Given the description of an element on the screen output the (x, y) to click on. 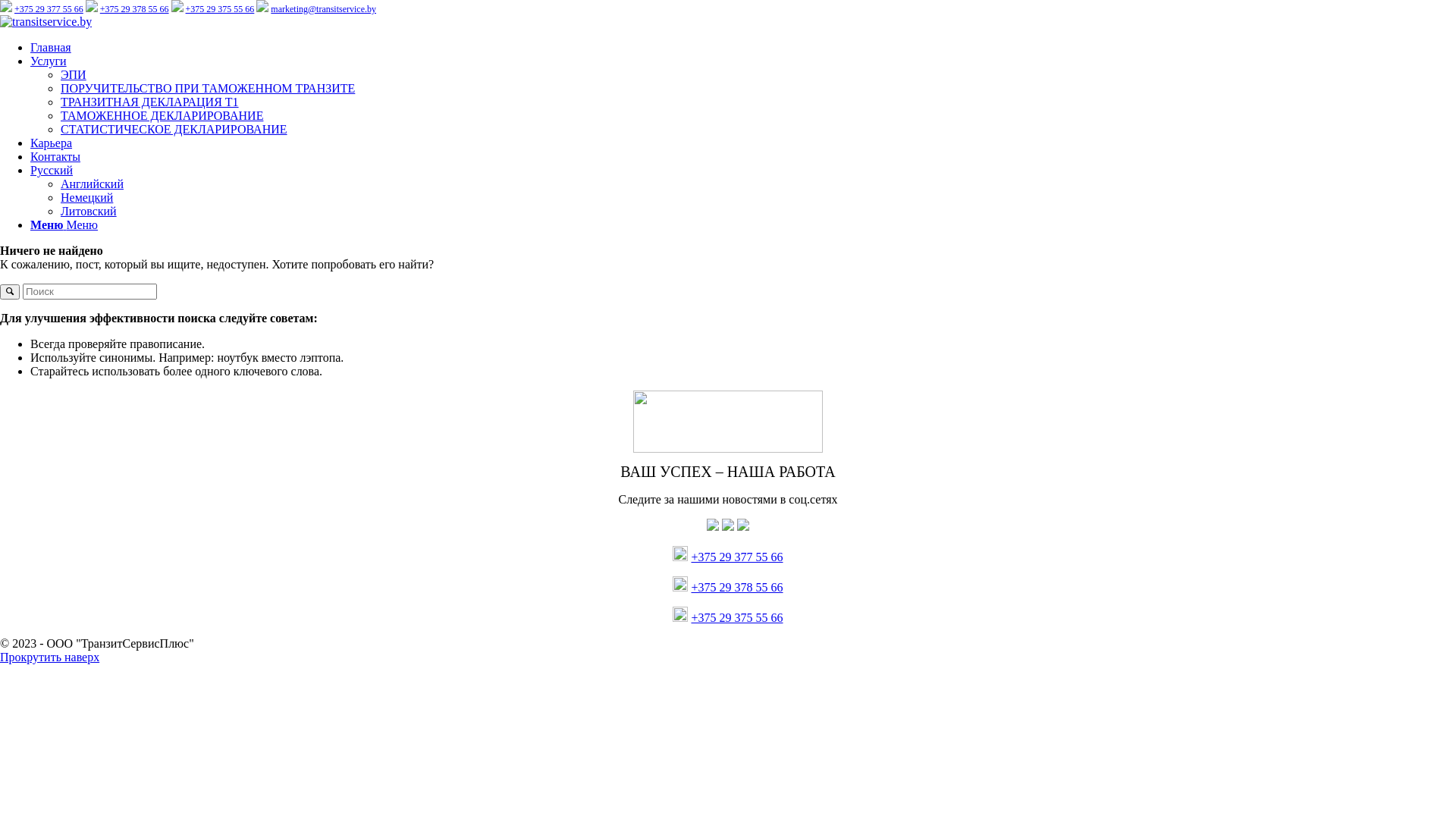
Facebook Element type: hover (712, 526)
+375 29 377 55 66 Element type: text (736, 556)
marketing@transitservice.by Element type: text (323, 8)
Instagram Element type: hover (743, 526)
+375 29 375 55 66 Element type: text (219, 8)
+375 29 377 55 66 Element type: text (48, 8)
+375 29 375 55 66 Element type: text (736, 617)
+375 29 378 55 66 Element type: text (736, 586)
transit_logo Element type: hover (45, 21)
+375 29 378 55 66 Element type: text (134, 8)
Vk Element type: hover (727, 526)
